Given the description of an element on the screen output the (x, y) to click on. 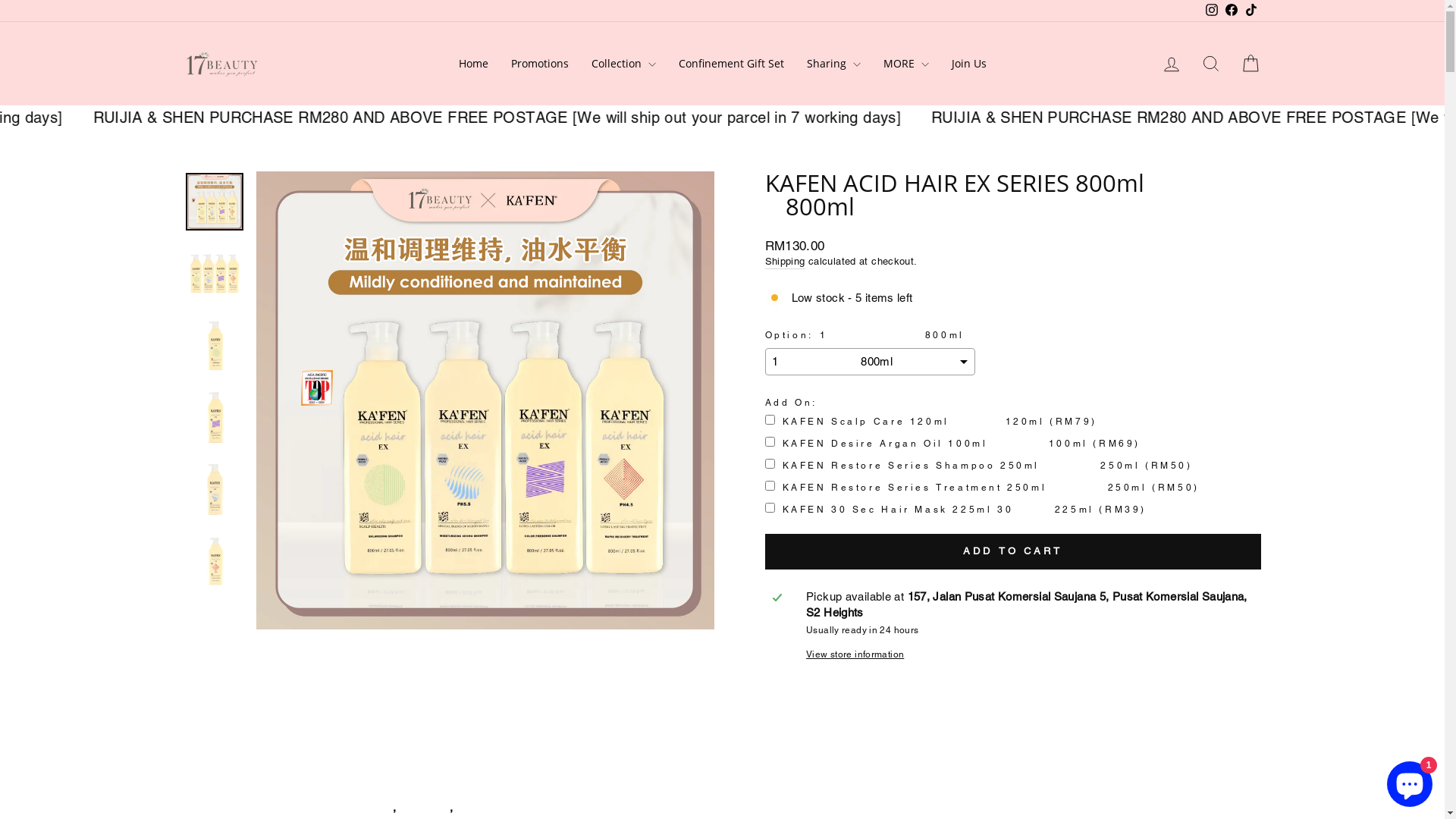
Cart Element type: text (1249, 63)
icon-search
Search Element type: text (1210, 63)
instagram
Instagram Element type: text (1210, 10)
Home Element type: text (473, 63)
Shopify online store chat Element type: hover (1409, 780)
Join Us Element type: text (968, 63)
account
Log in Element type: text (1170, 63)
TikTok Element type: text (1250, 10)
Shipping Element type: text (784, 261)
Facebook Element type: text (1230, 10)
Confinement Gift Set Element type: text (731, 63)
ADD TO CART Element type: text (1012, 550)
View store information Element type: text (1029, 654)
Promotions Element type: text (538, 63)
